Given the description of an element on the screen output the (x, y) to click on. 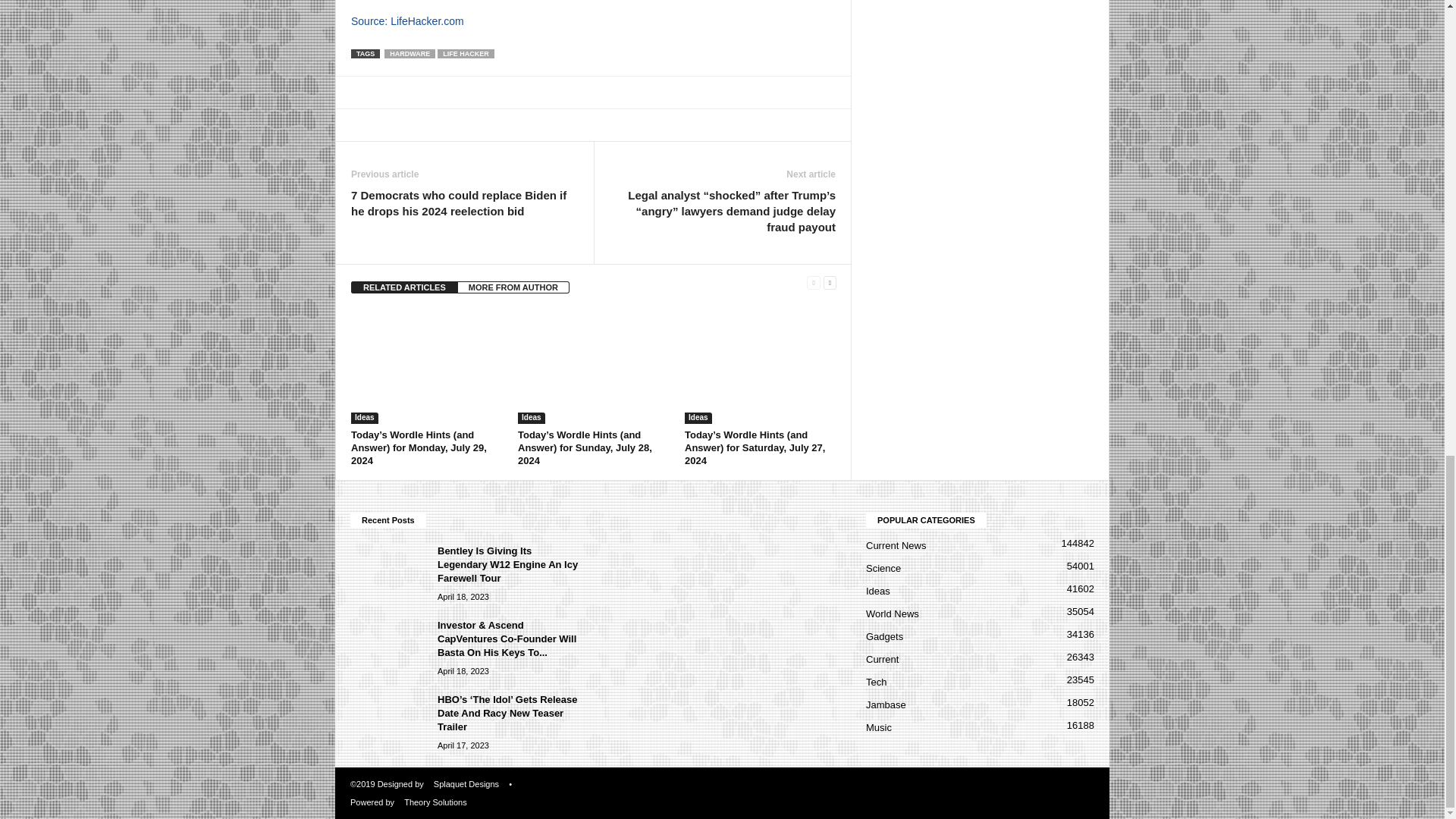
Ideas (364, 418)
Source: LifeHacker.com (407, 21)
LIFE HACKER (466, 53)
Ideas (531, 418)
Ideas (697, 418)
RELATED ARTICLES (404, 287)
MORE FROM AUTHOR (513, 287)
HARDWARE (409, 53)
